Given the description of an element on the screen output the (x, y) to click on. 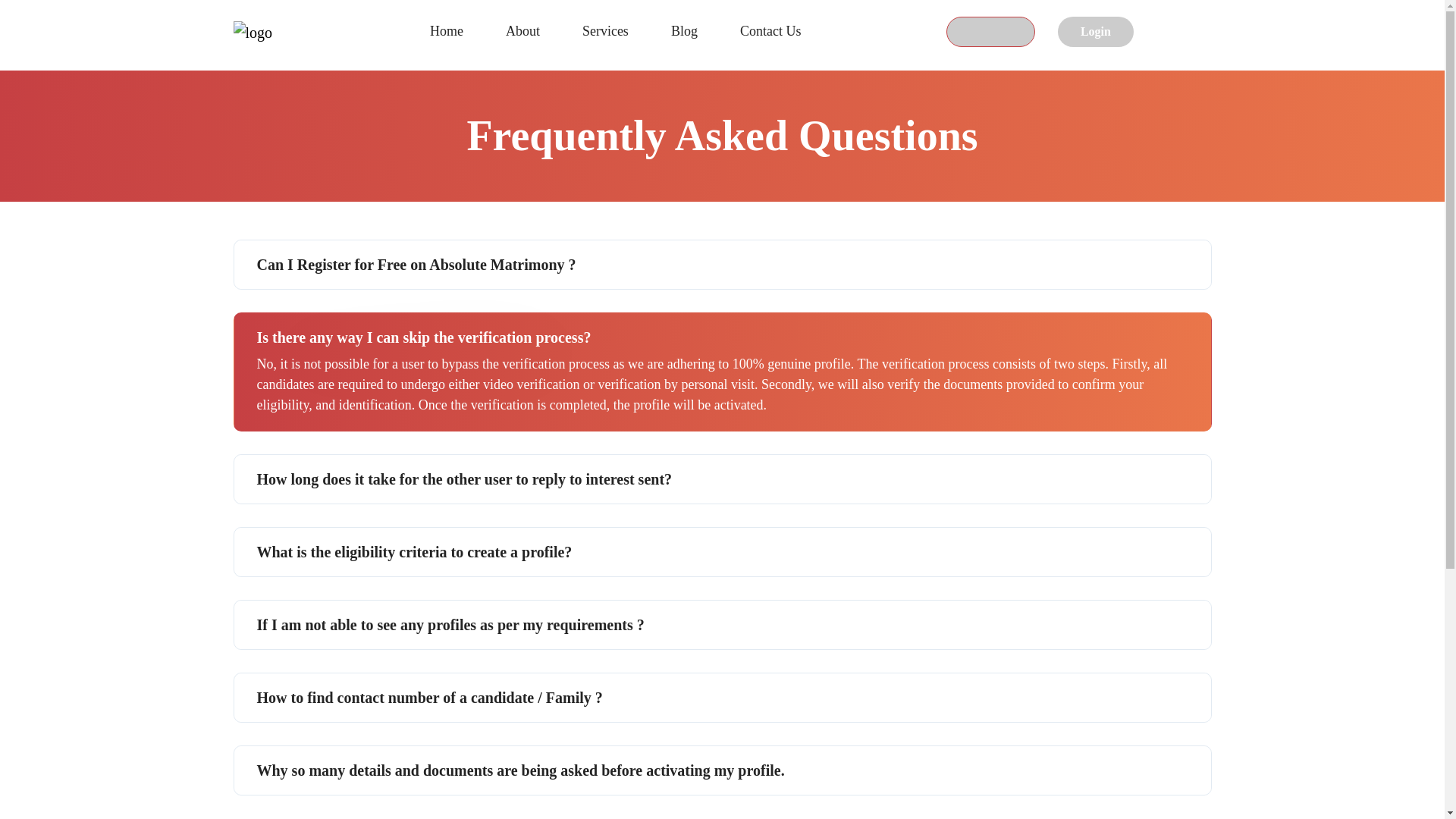
About (522, 31)
Contact Us (770, 31)
What is the eligibility criteria to create a profile? (720, 551)
Is there any way I can skip the verification process? (720, 332)
Login (1096, 31)
Can I Register for Free on Absolute Matrimony ? (720, 264)
Blog (684, 31)
Home (445, 31)
